Given the description of an element on the screen output the (x, y) to click on. 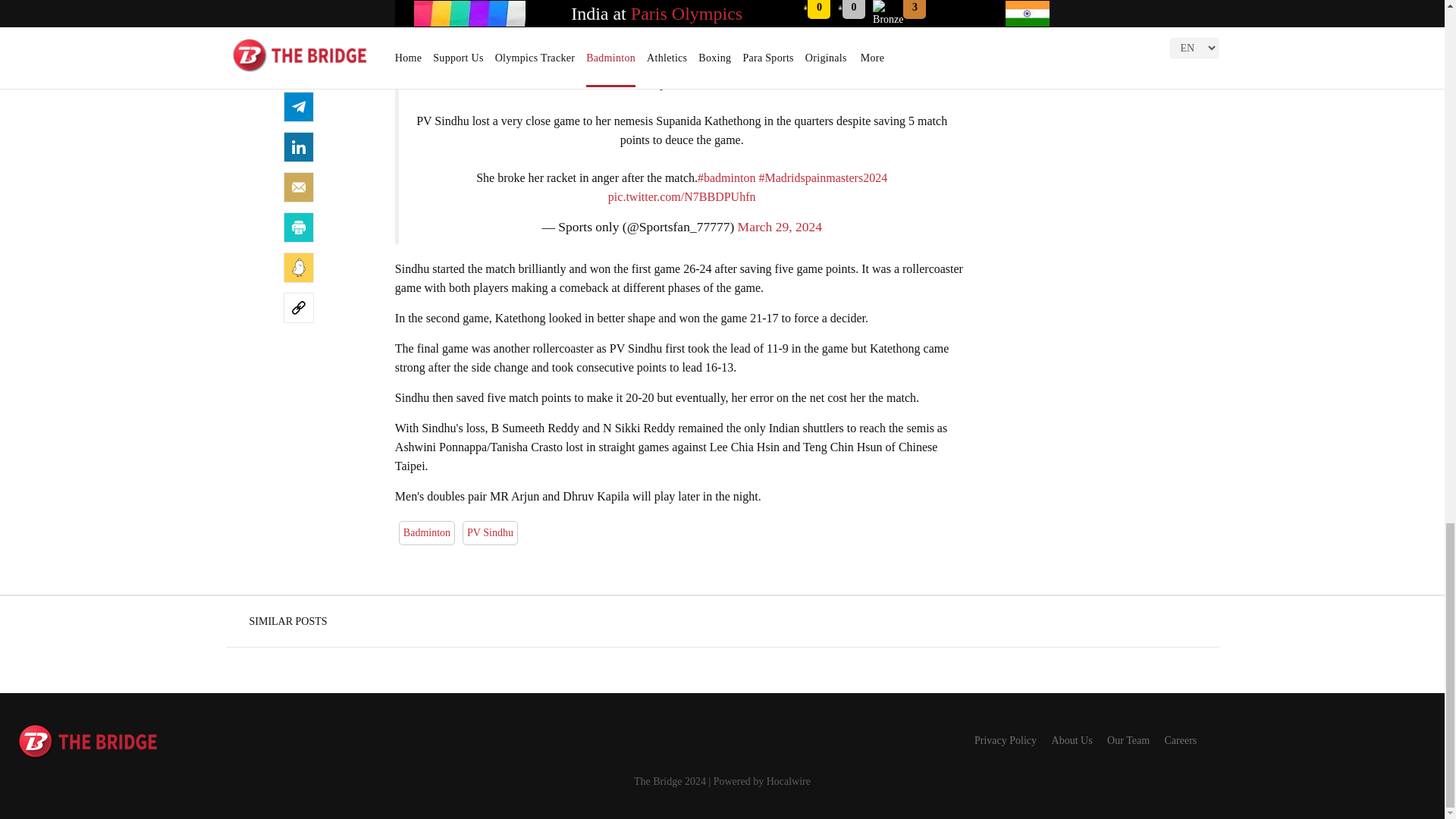
LinkedIn (298, 146)
Share by Email (298, 186)
